Given the description of an element on the screen output the (x, y) to click on. 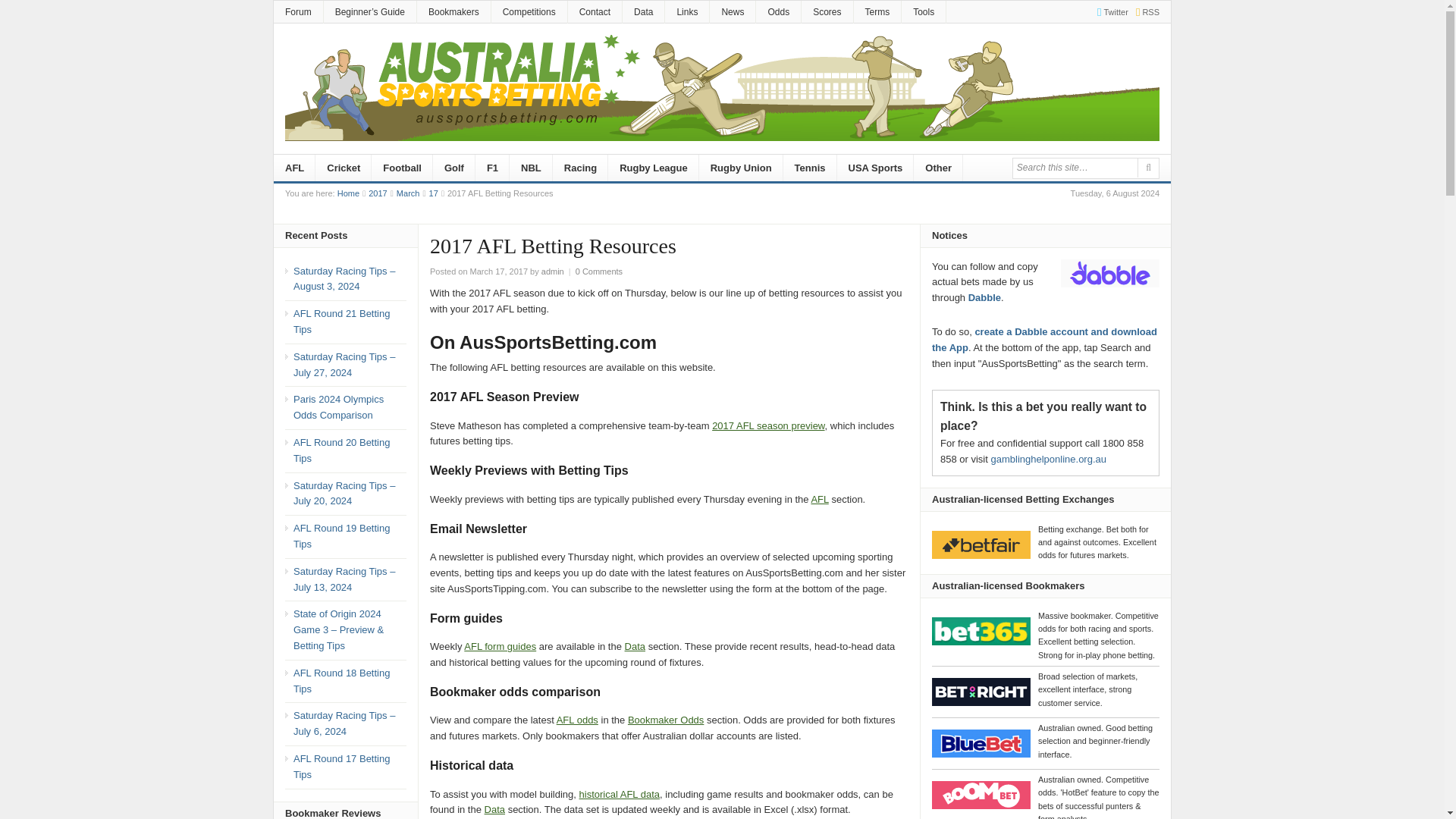
RSS (1143, 11)
Twitter (1108, 11)
Australia Sports Betting (348, 193)
Forum (298, 11)
Bookmakers (453, 11)
